Given the description of an element on the screen output the (x, y) to click on. 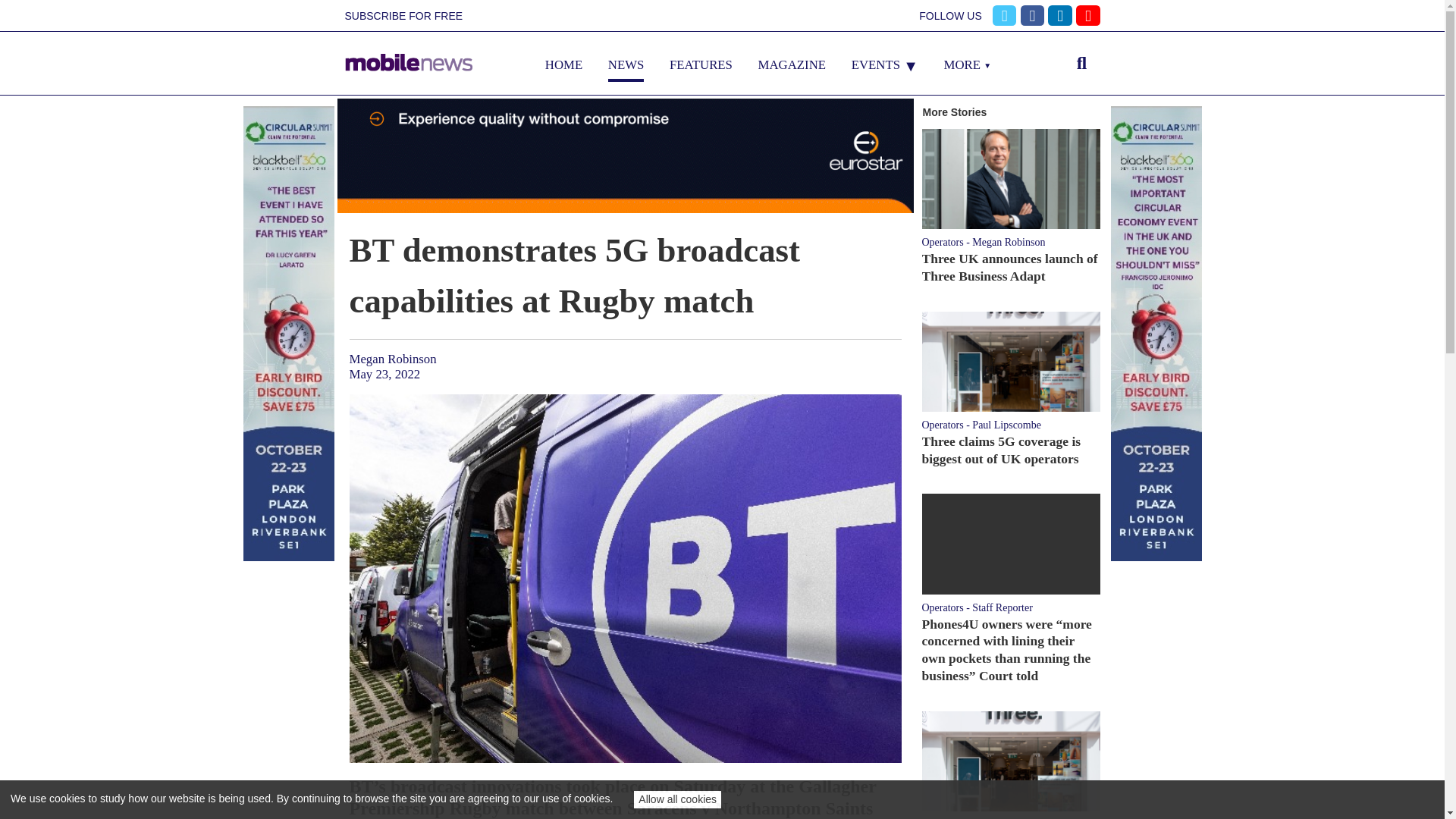
SUBSCRIBE FOR FREE (403, 15)
HOME (563, 64)
FEATURES (700, 64)
MAGAZINE (792, 64)
NEWS (626, 64)
